Given the description of an element on the screen output the (x, y) to click on. 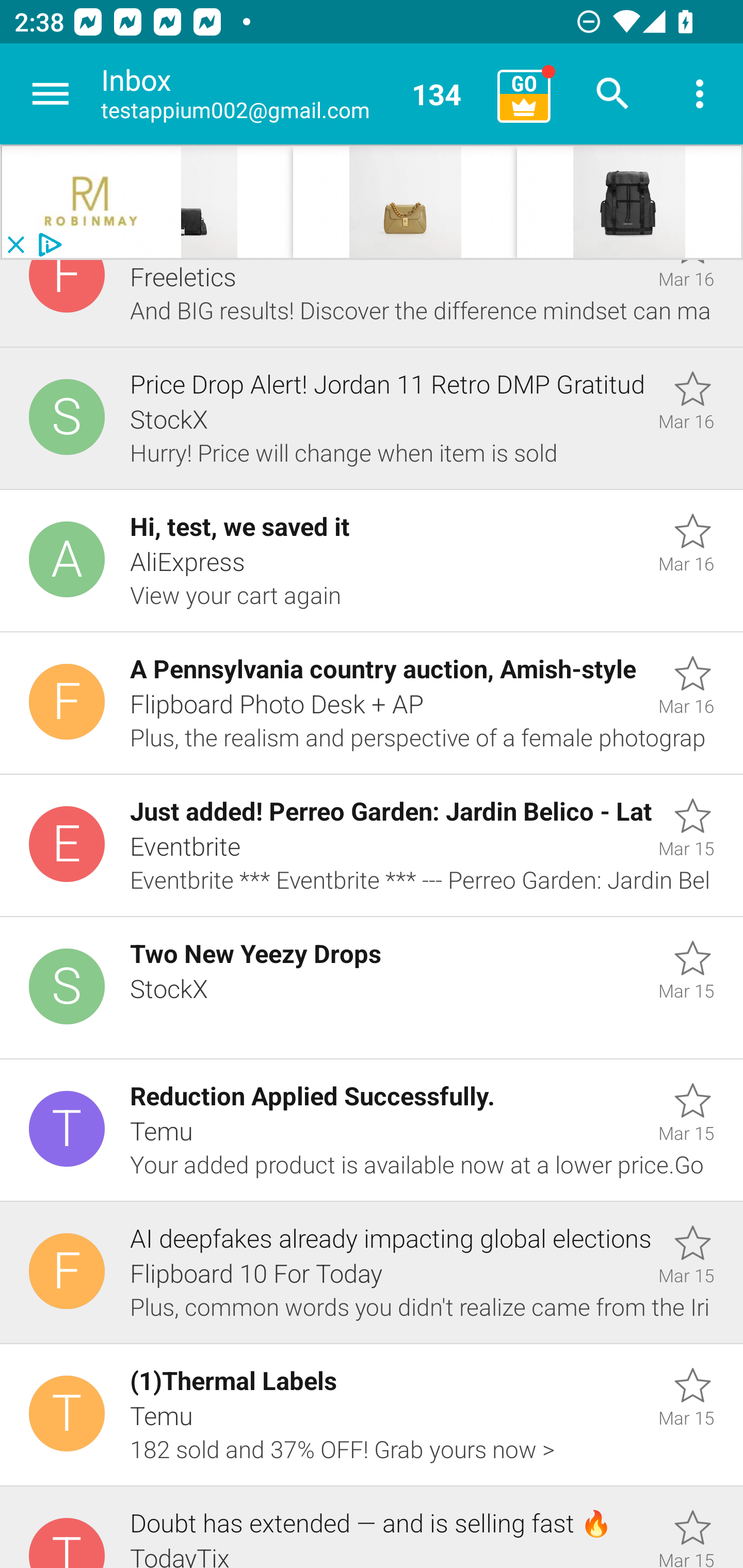
Navigate up (50, 93)
Inbox testappium002@gmail.com 134 (291, 93)
Search (612, 93)
More options (699, 93)
   (91, 202)
   (404, 202)
   (629, 202)
close_button (14, 245)
privacy_small (47, 245)
Unread, Two New Yeezy Drops, StockX, Mar 15 (371, 988)
